Given the description of an element on the screen output the (x, y) to click on. 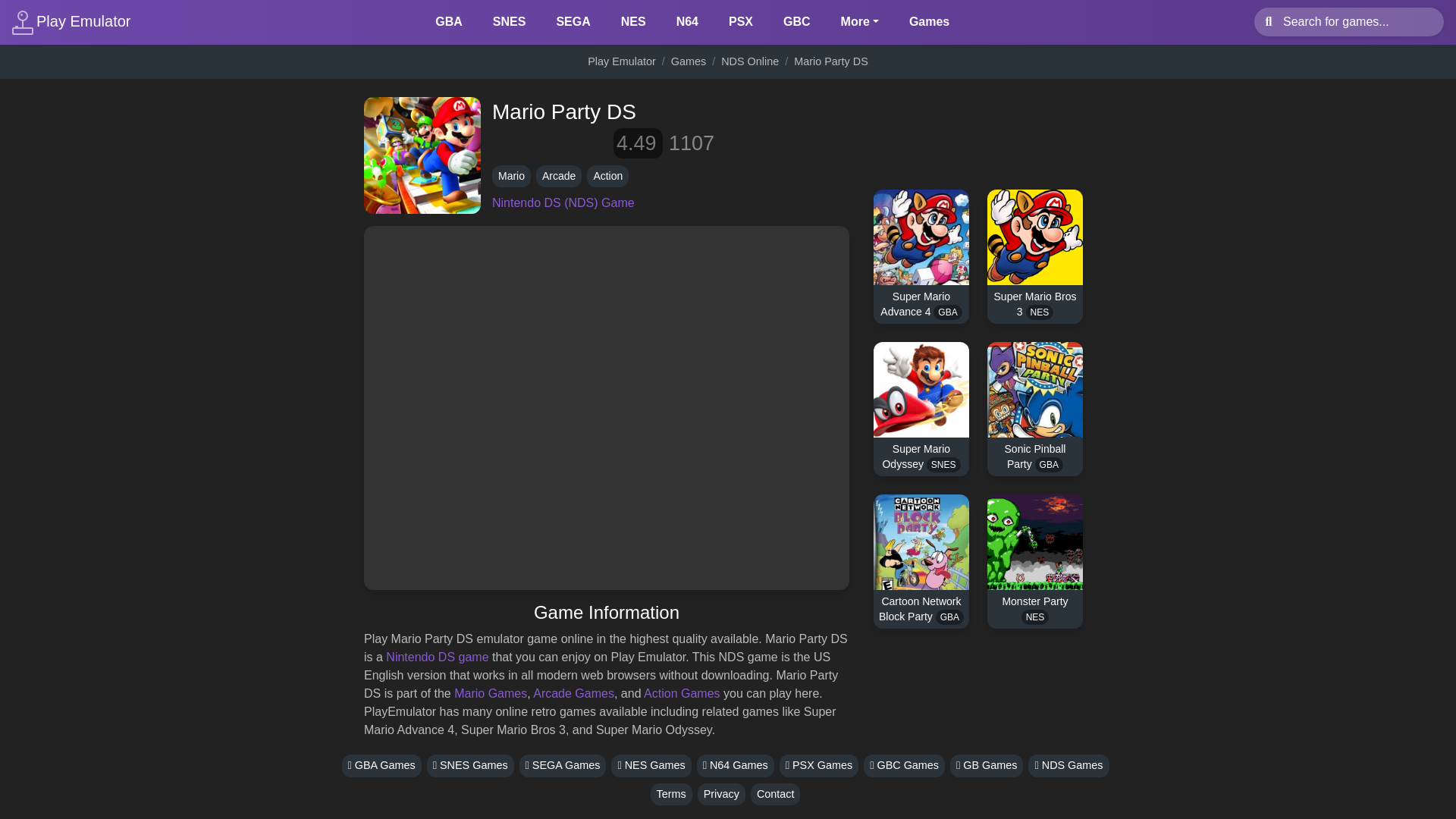
GBC (796, 21)
NES (633, 21)
Action (607, 176)
Mario Games (490, 693)
More (859, 21)
Play Emulator (622, 61)
SEGA (572, 21)
SNES (509, 21)
Play Emulator (71, 21)
PSX (740, 21)
